Given the description of an element on the screen output the (x, y) to click on. 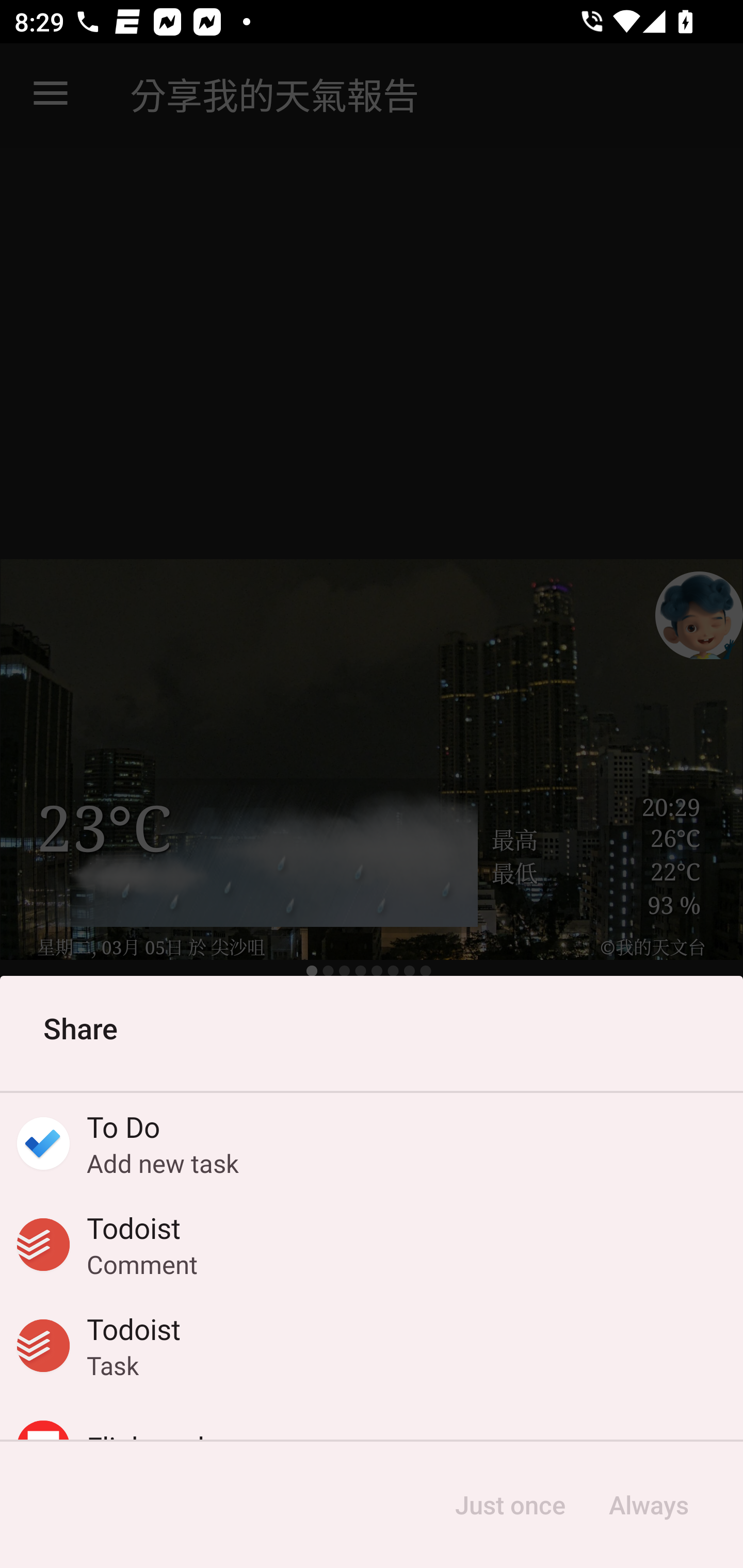
To Do Add new task (371, 1143)
Todoist Comment (371, 1244)
Todoist Task (371, 1345)
Just once (509, 1504)
Always (648, 1504)
